Given the description of an element on the screen output the (x, y) to click on. 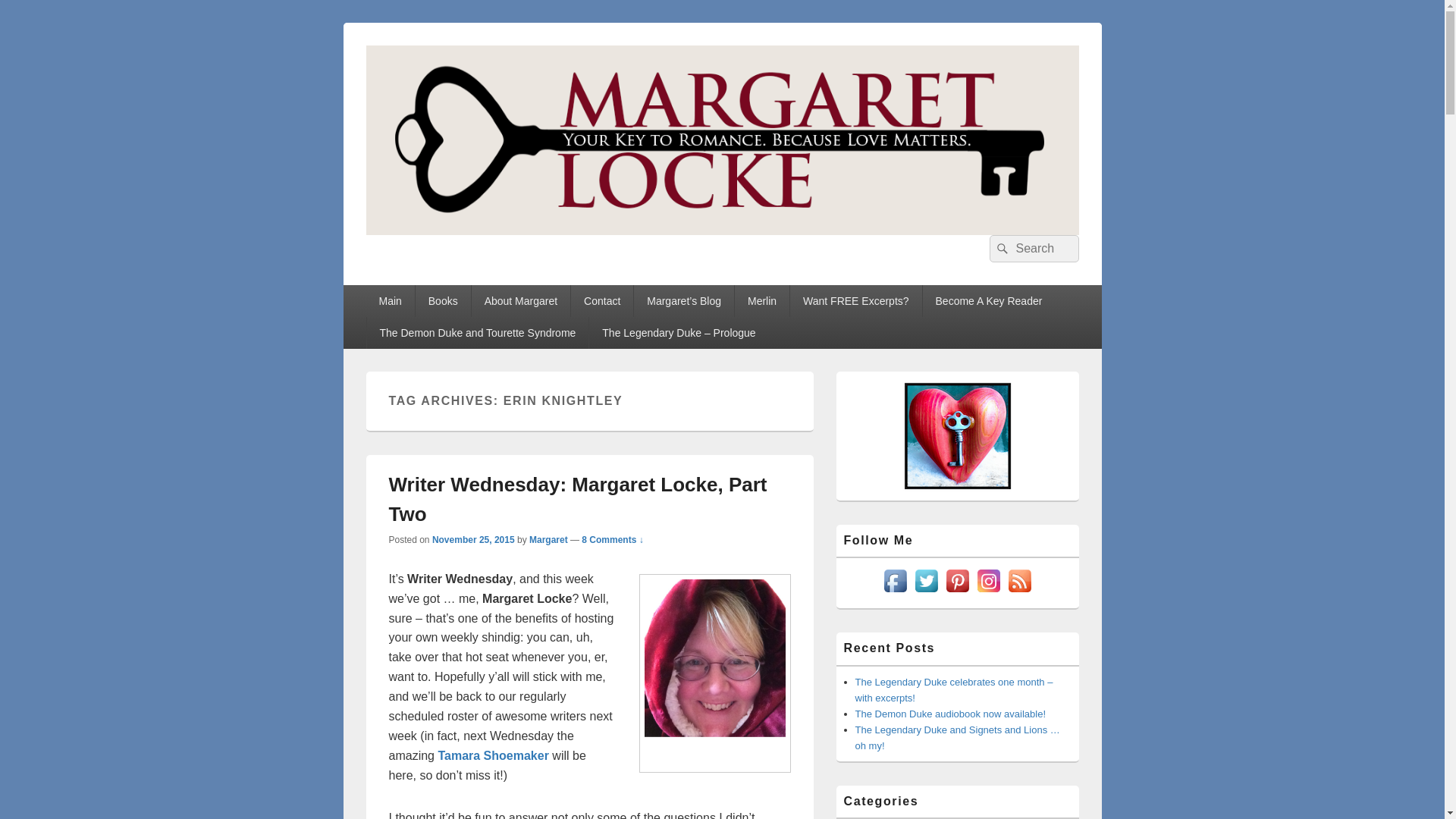
Writer Wednesday: Margaret Locke, Part Two (577, 499)
Tamara Shoemaker (492, 755)
Margaret Locke (466, 251)
Want FREE Excerpts? (855, 300)
Margaret (548, 539)
View all posts by Margaret (548, 539)
The Demon Duke and Tourette Syndrome (477, 332)
Merlin (762, 300)
Search for: (1033, 248)
Become A Key Reader (989, 300)
